Given the description of an element on the screen output the (x, y) to click on. 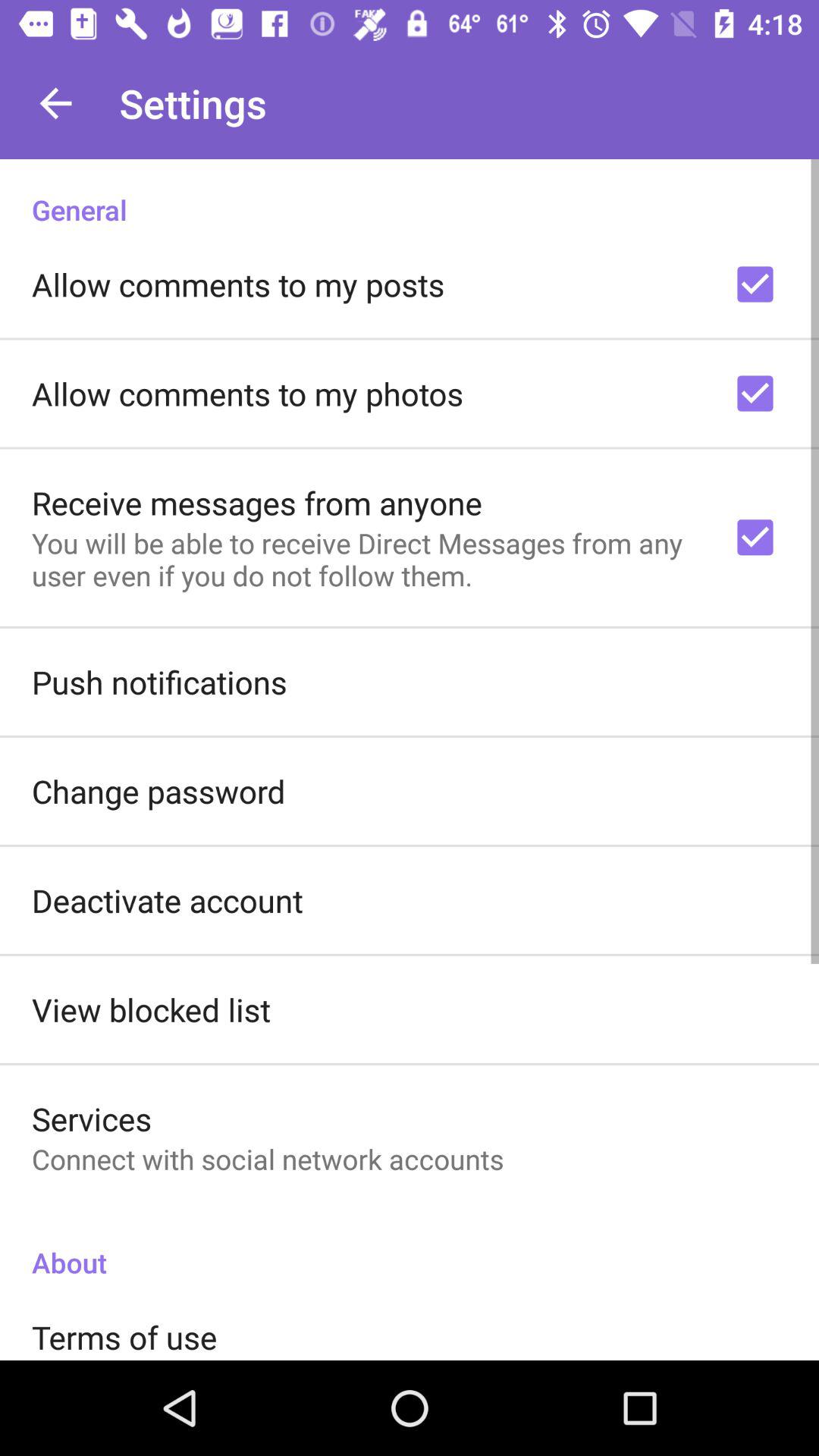
select the item above deactivate account icon (158, 790)
